Given the description of an element on the screen output the (x, y) to click on. 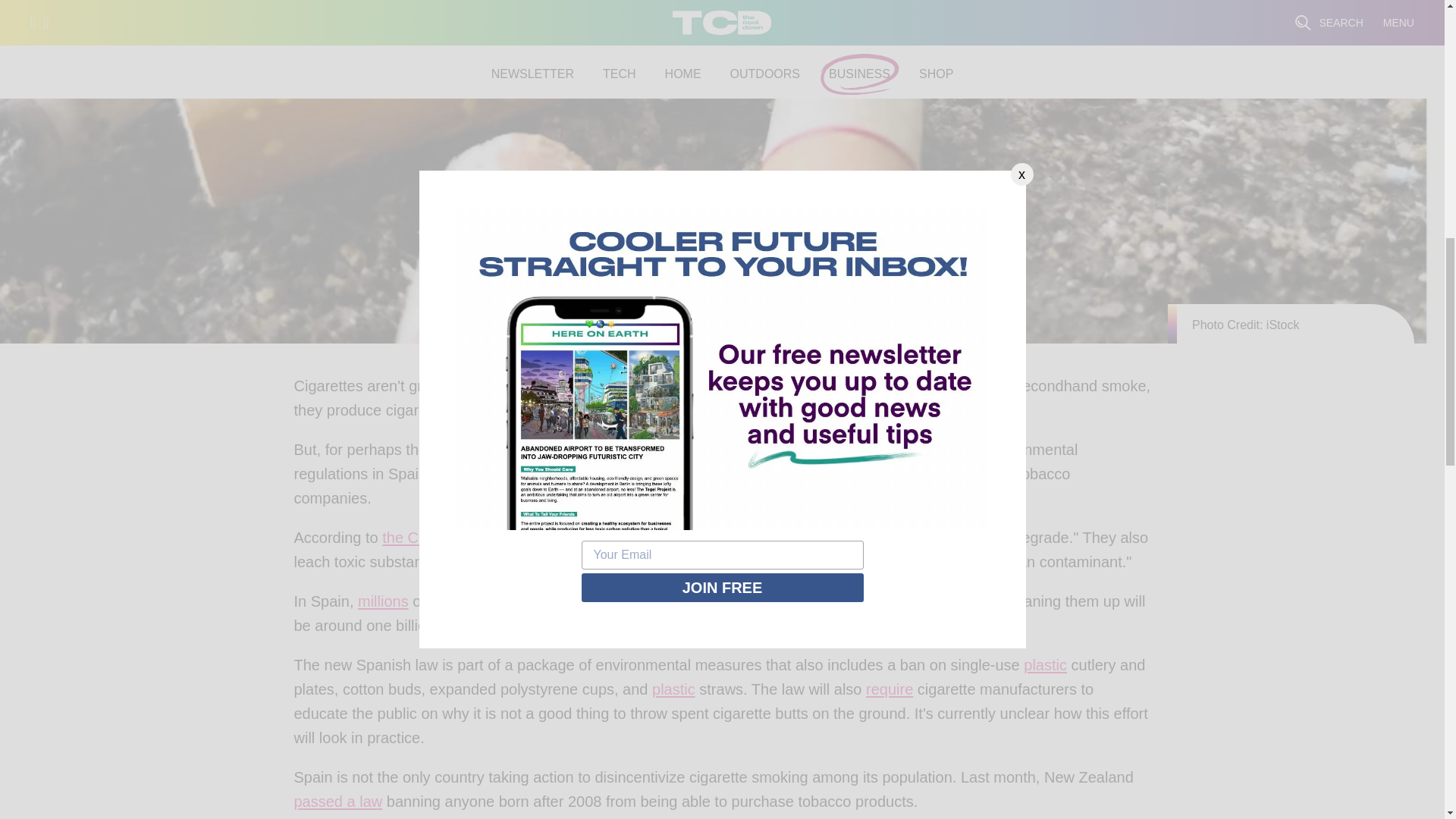
millions (383, 604)
some estimates (868, 604)
prevalent (629, 413)
Plastic (1045, 668)
have been reported (724, 565)
the CDC (411, 541)
poisonous (728, 413)
Plastic (673, 692)
some good news involving cigarette butts (754, 453)
